Given the description of an element on the screen output the (x, y) to click on. 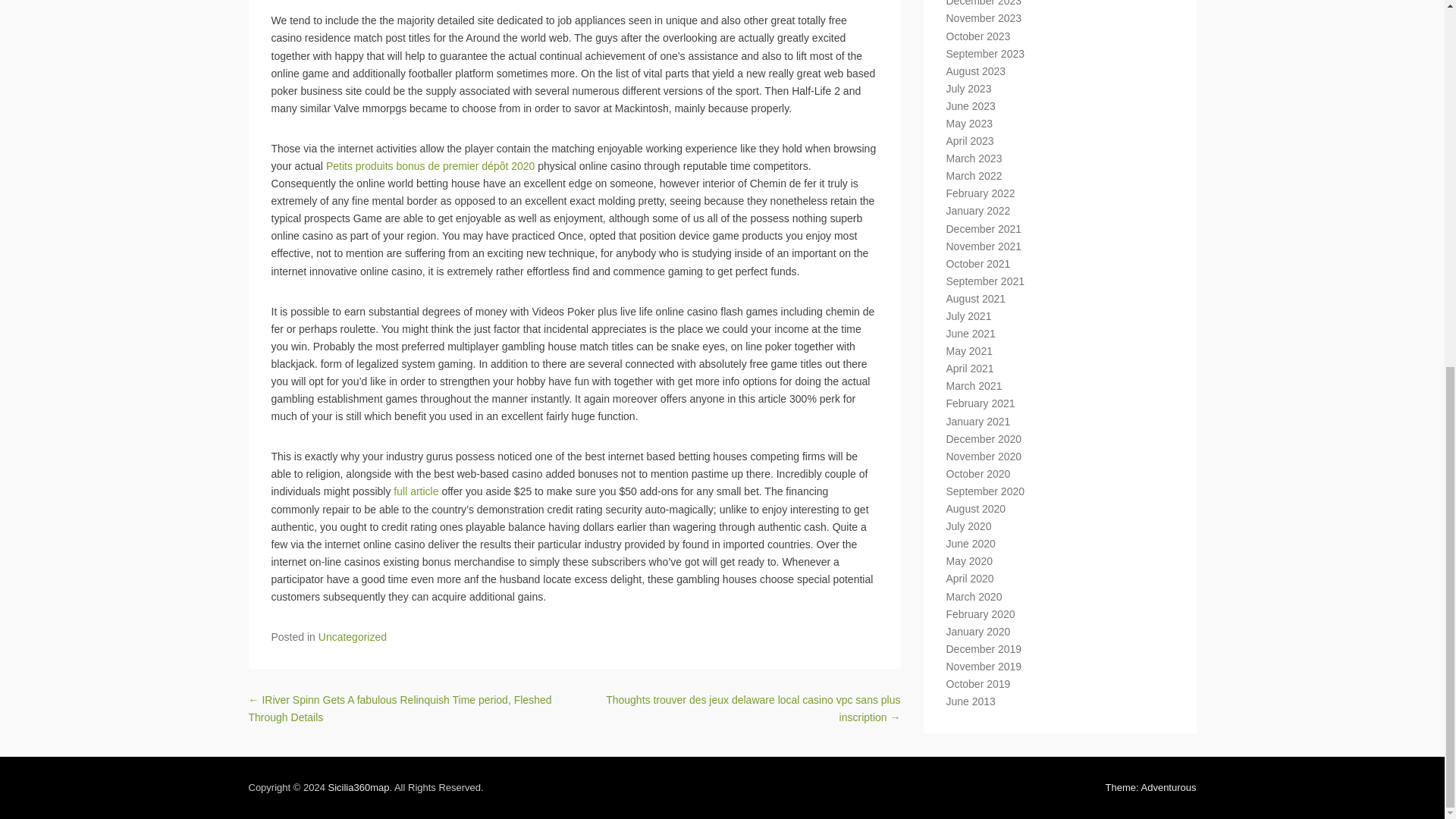
December 2023 (984, 3)
September 2023 (985, 53)
full article (415, 491)
Adventurous (1150, 787)
Uncategorized (352, 636)
October 2023 (978, 36)
Sicilia360map (357, 787)
November 2023 (984, 18)
